Given the description of an element on the screen output the (x, y) to click on. 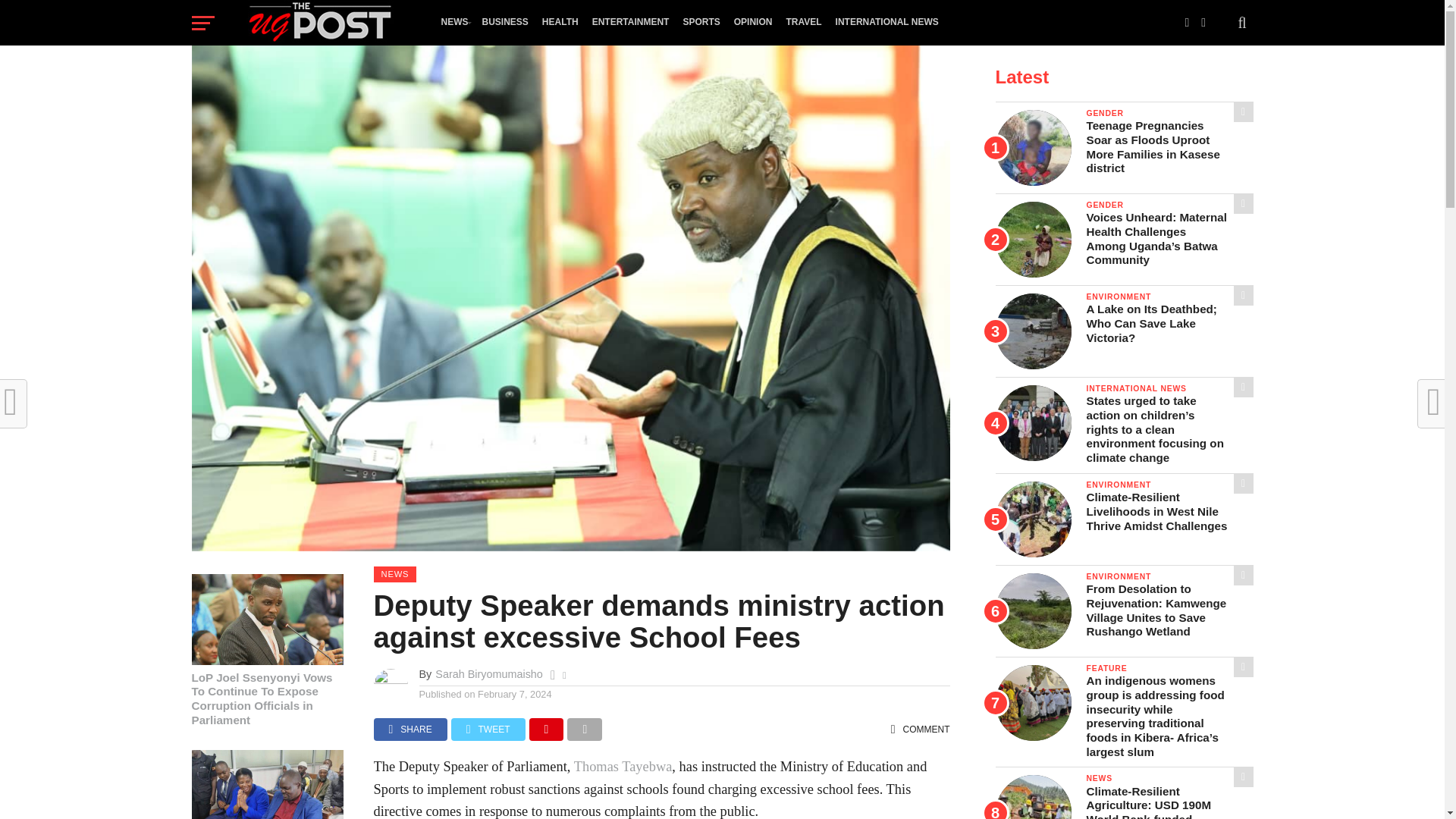
HEALTH (560, 22)
NEWS (453, 22)
INTERNATIONAL NEWS (886, 22)
BUSINESS (504, 22)
Posts by Sarah Biryomumaisho (489, 674)
SPORTS (700, 22)
OPINION (752, 22)
TRAVEL (803, 22)
